Given the description of an element on the screen output the (x, y) to click on. 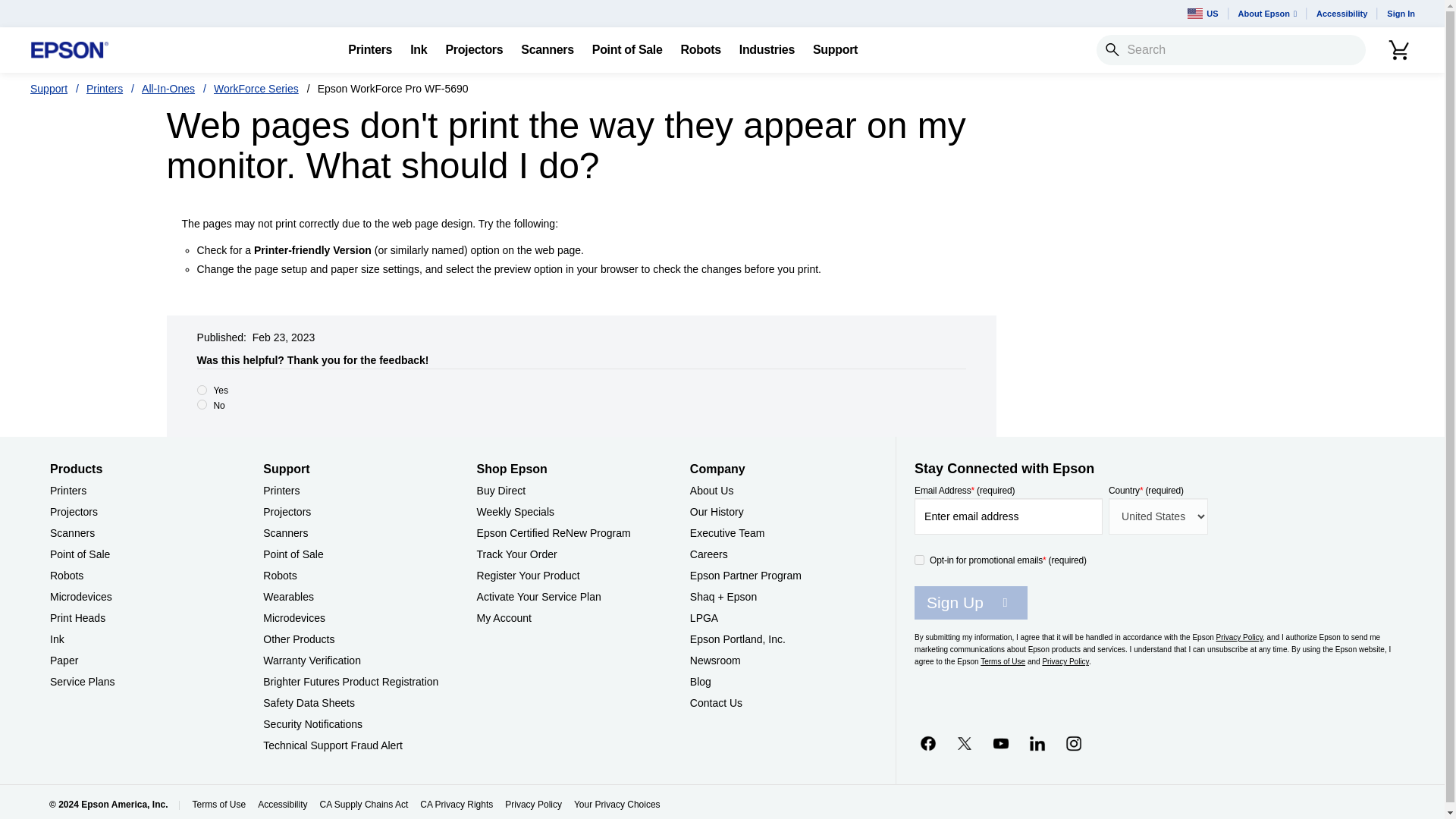
Sign In (1400, 13)
About Epson (1267, 13)
Sign In (1400, 13)
no (201, 404)
Epson Logo (69, 49)
US (1202, 13)
US (1202, 13)
yes (201, 389)
Accessibility (1341, 13)
on (919, 560)
Accessibility (1341, 13)
